Given the description of an element on the screen output the (x, y) to click on. 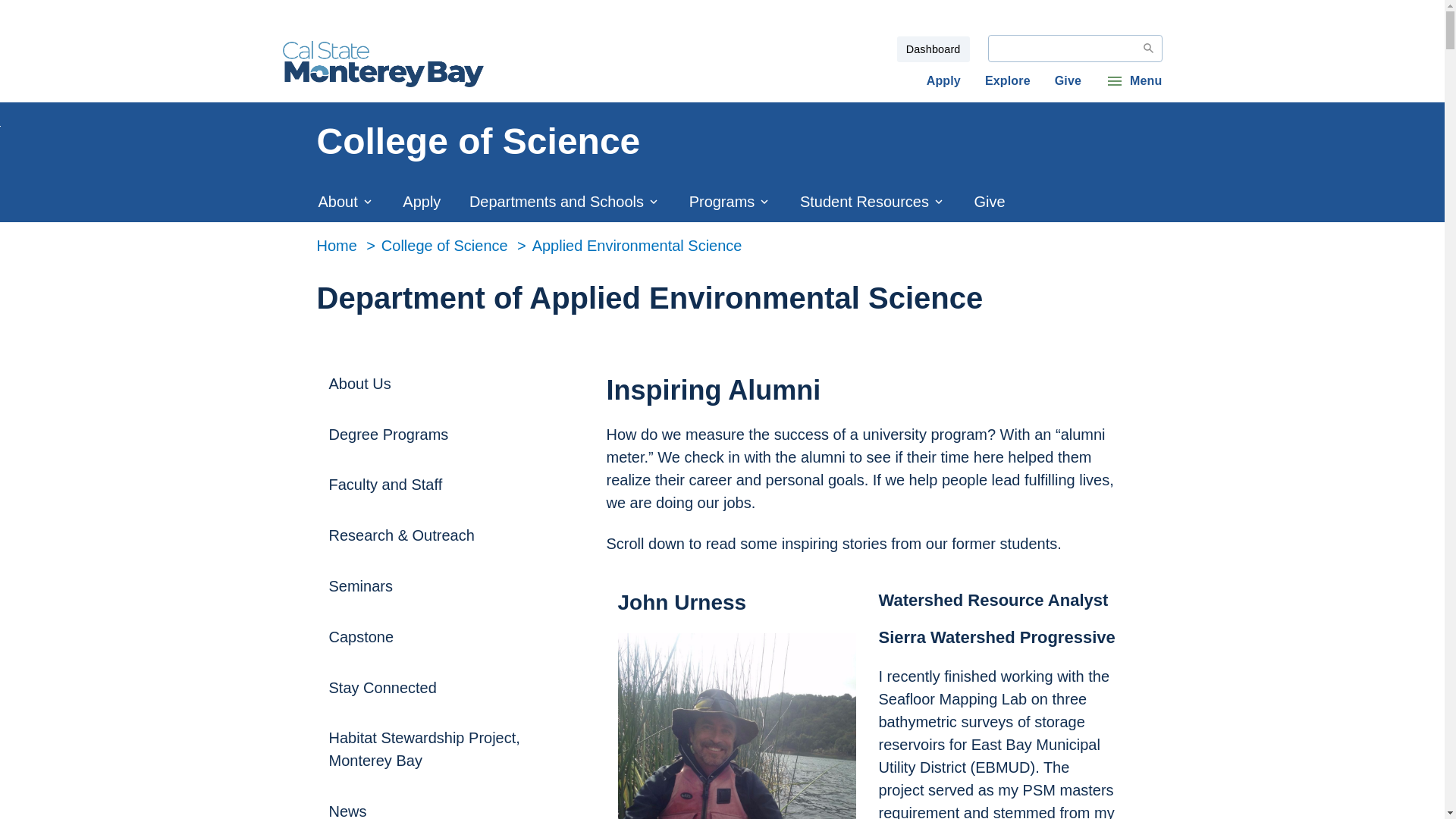
Menu (1133, 81)
Give (1067, 81)
Dashboard (932, 49)
Explore (1007, 81)
Apply (943, 81)
